Given the description of an element on the screen output the (x, y) to click on. 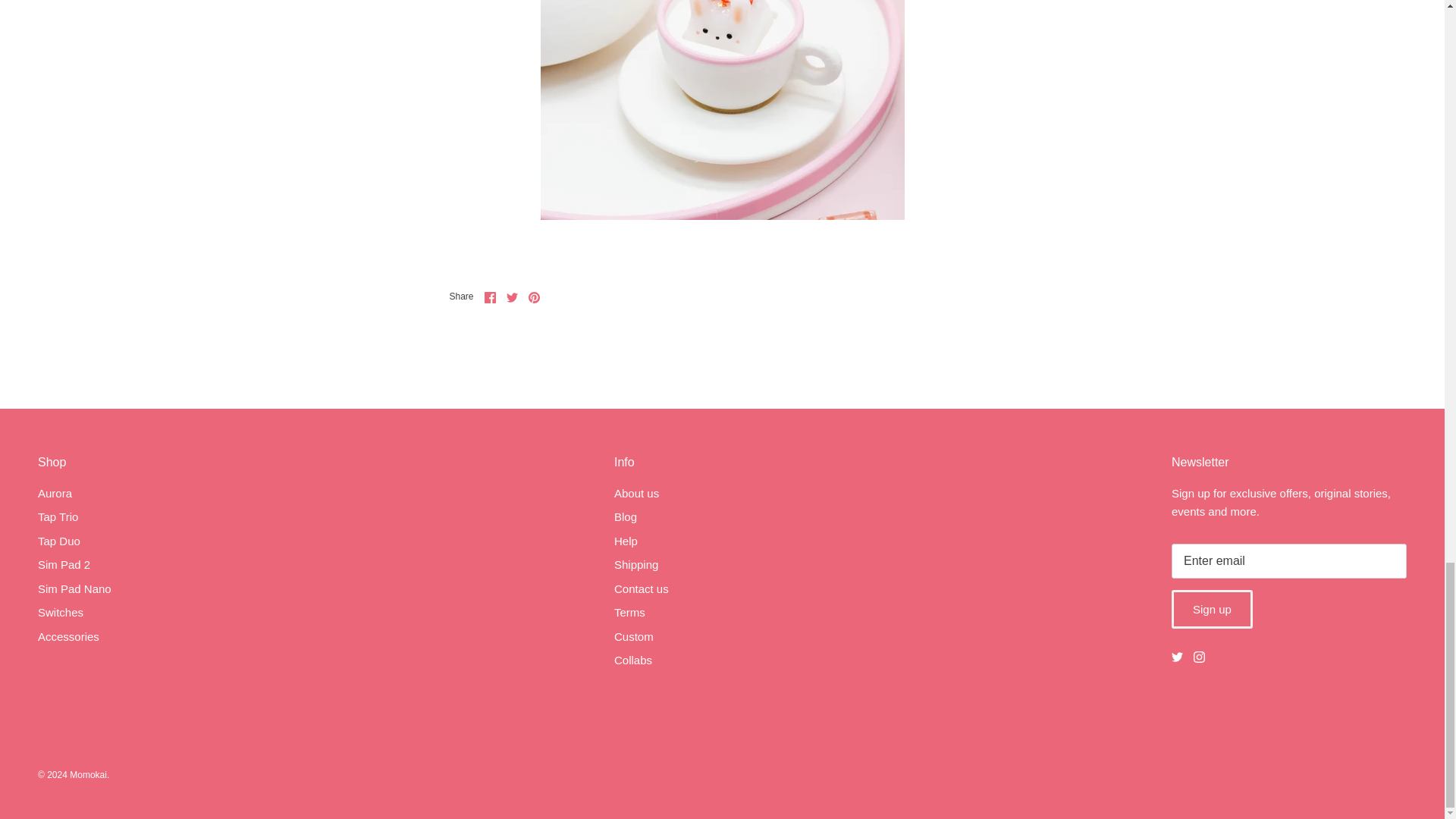
Twitter (1177, 656)
Facebook (490, 297)
Twitter (512, 297)
Pinterest (534, 297)
Instagram (1199, 656)
